Given the description of an element on the screen output the (x, y) to click on. 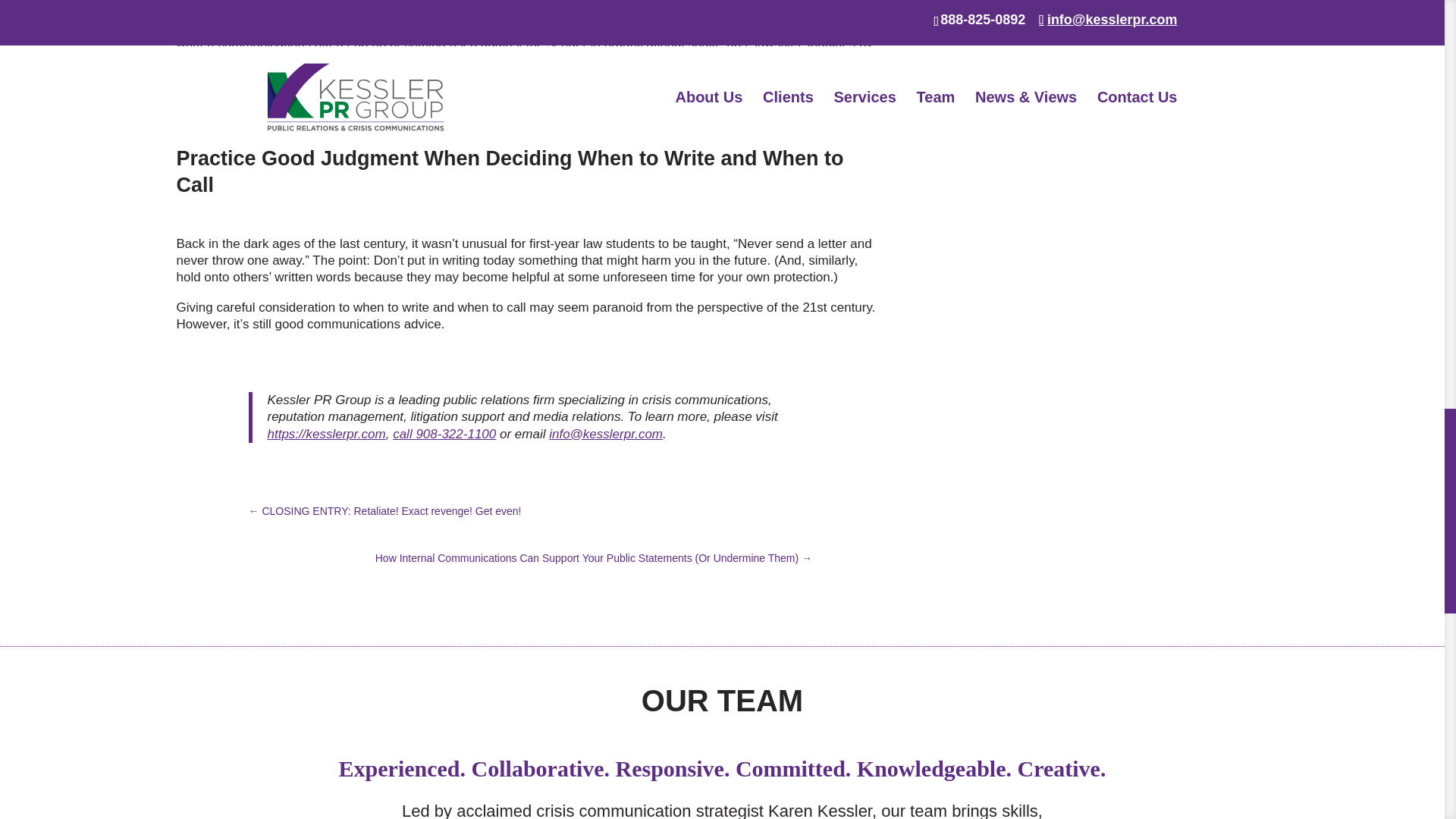
call 908-322-1100 (444, 433)
